Given the description of an element on the screen output the (x, y) to click on. 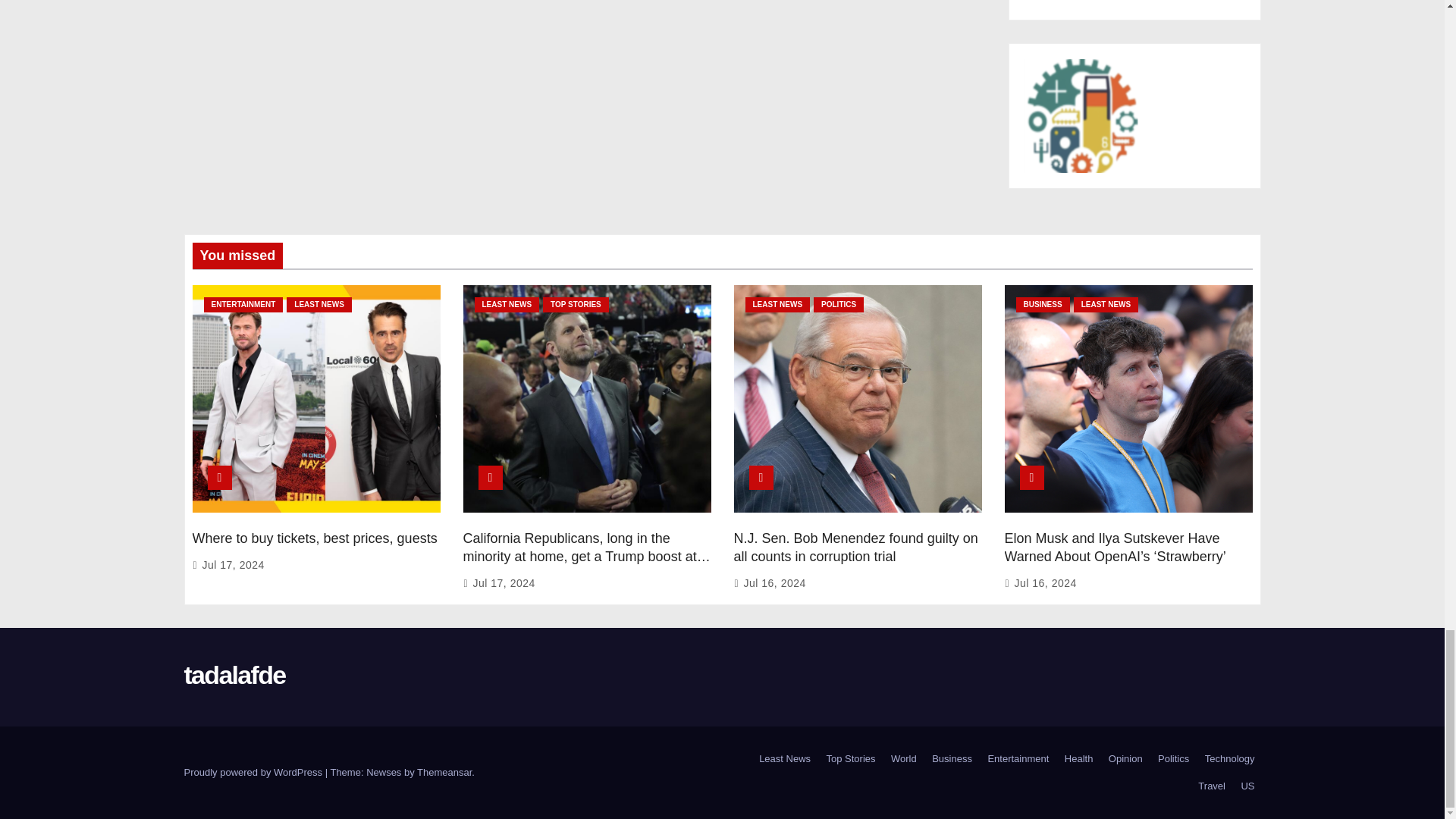
Permalink to: Where to buy tickets, best prices, guests (315, 538)
